Given the description of an element on the screen output the (x, y) to click on. 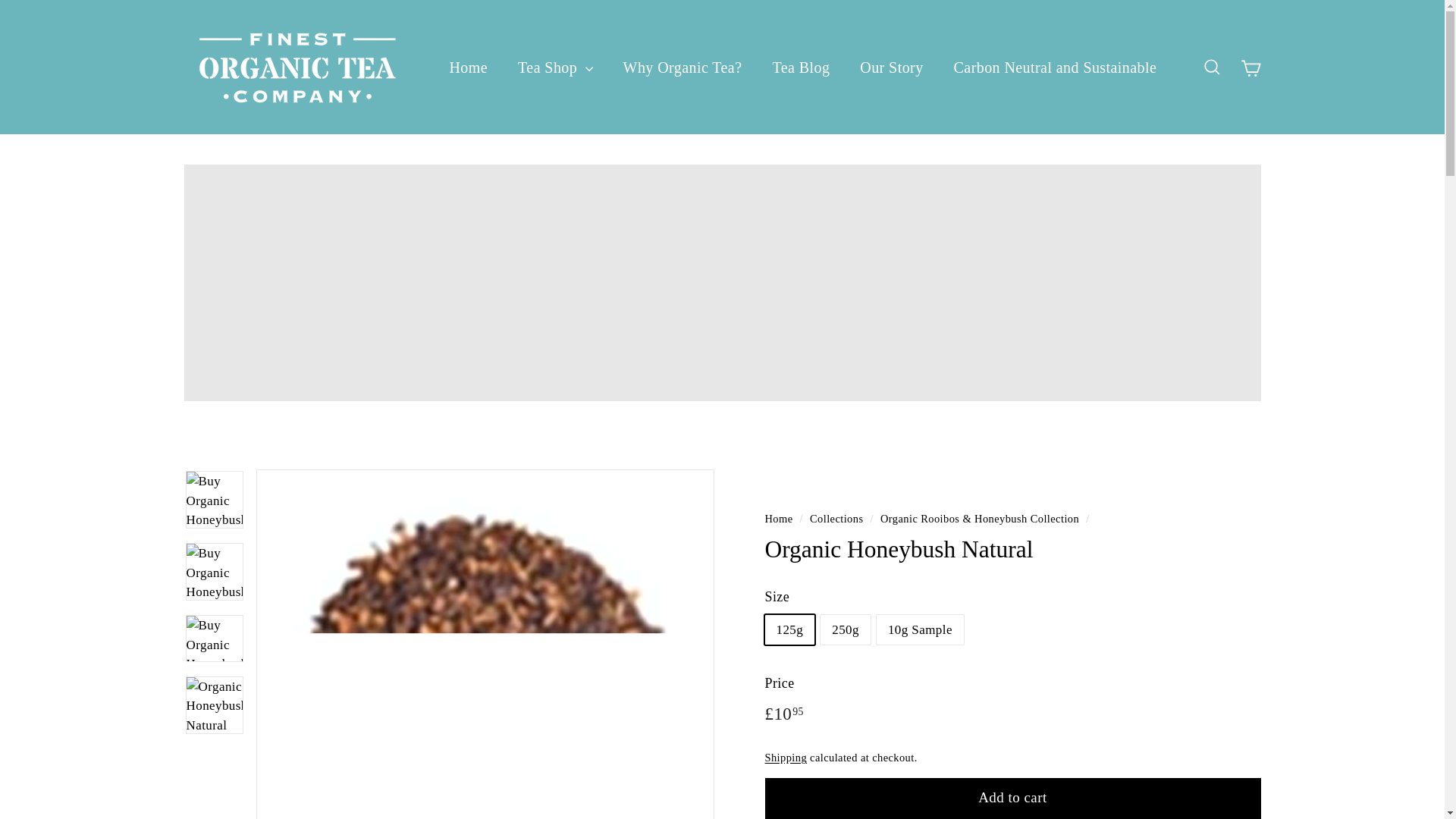
Why Organic Tea? (682, 67)
Home (467, 67)
Our Story (890, 67)
Back to the frontpage (778, 518)
Tea Blog (800, 67)
Carbon Neutral and Sustainable (1055, 67)
